Given the description of an element on the screen output the (x, y) to click on. 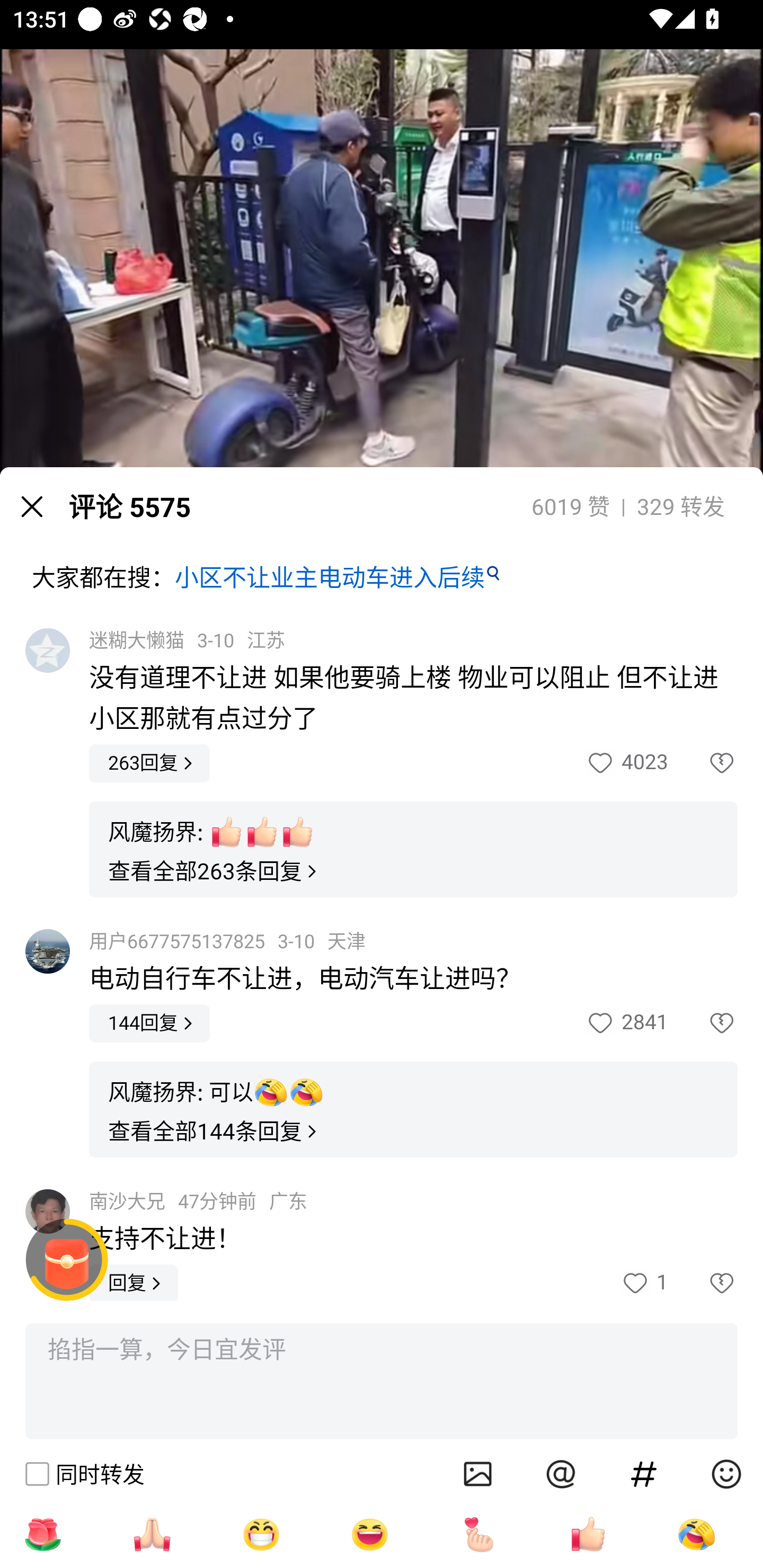
 掐指一算，今日宜发评 (381, 1381)
同时转发 (83, 1473)
相册 (478, 1473)
at (560, 1473)
话题 (643, 1473)
表情 (726, 1473)
[玫瑰] (42, 1534)
[祈祷] (152, 1534)
[呲牙] (261, 1534)
[大笑] (369, 1534)
[比心] (478, 1534)
[赞] (588, 1534)
[捂脸] (696, 1534)
